Given the description of an element on the screen output the (x, y) to click on. 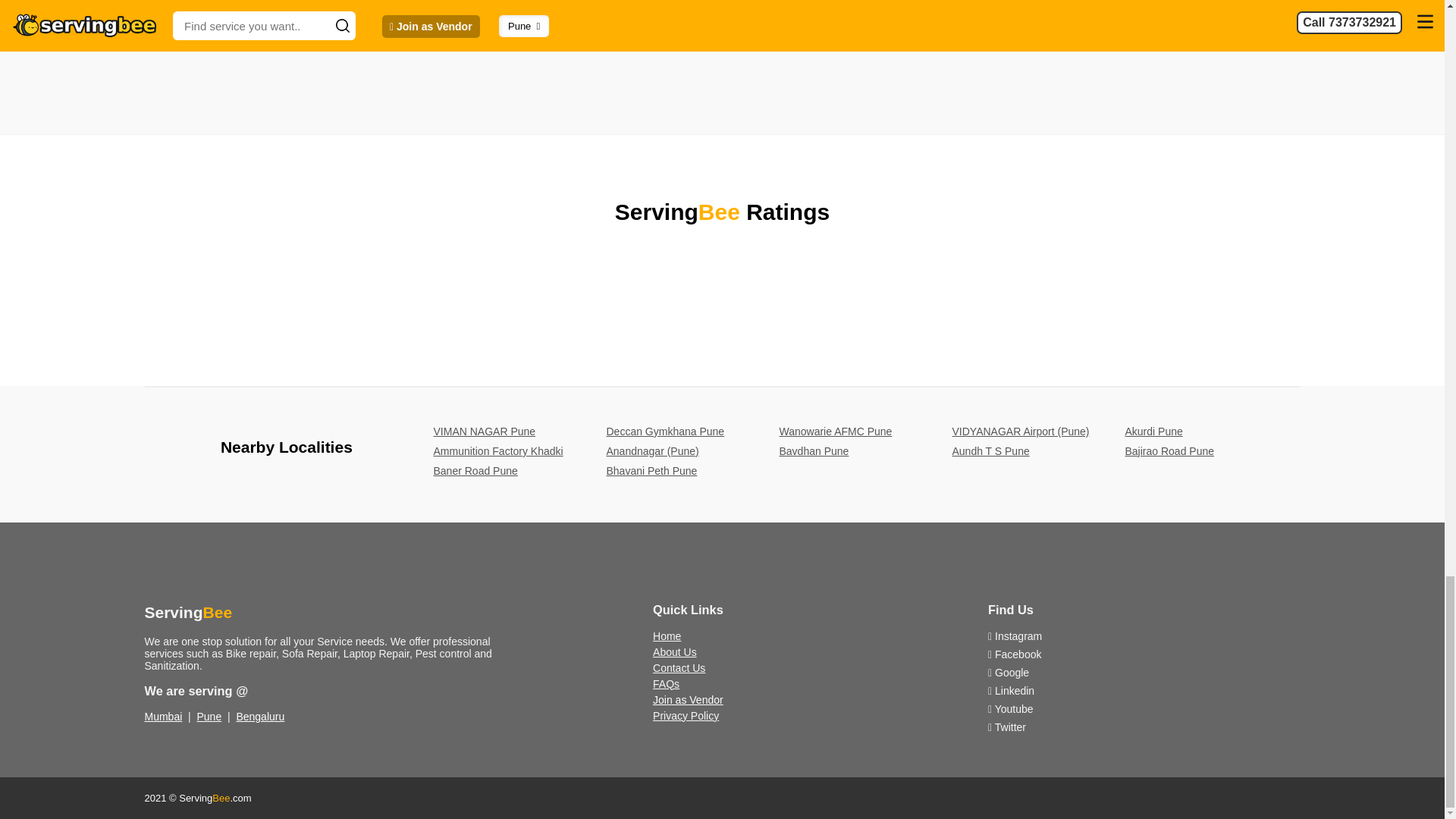
Deccan Gymkhana Pune (666, 431)
Bajirao Road Pune (1169, 451)
Mumbai (163, 716)
Home (666, 635)
About Us (674, 652)
Bhavani Peth Pune (652, 470)
Bengaluru (259, 716)
Instagram (1015, 635)
Contact Us (678, 667)
FAQs (665, 684)
Privacy Policy (685, 715)
Bavdhan Pune (813, 451)
Pune (209, 716)
Join as Vendor (687, 699)
Ammunition Factory Khadki (498, 451)
